Given the description of an element on the screen output the (x, y) to click on. 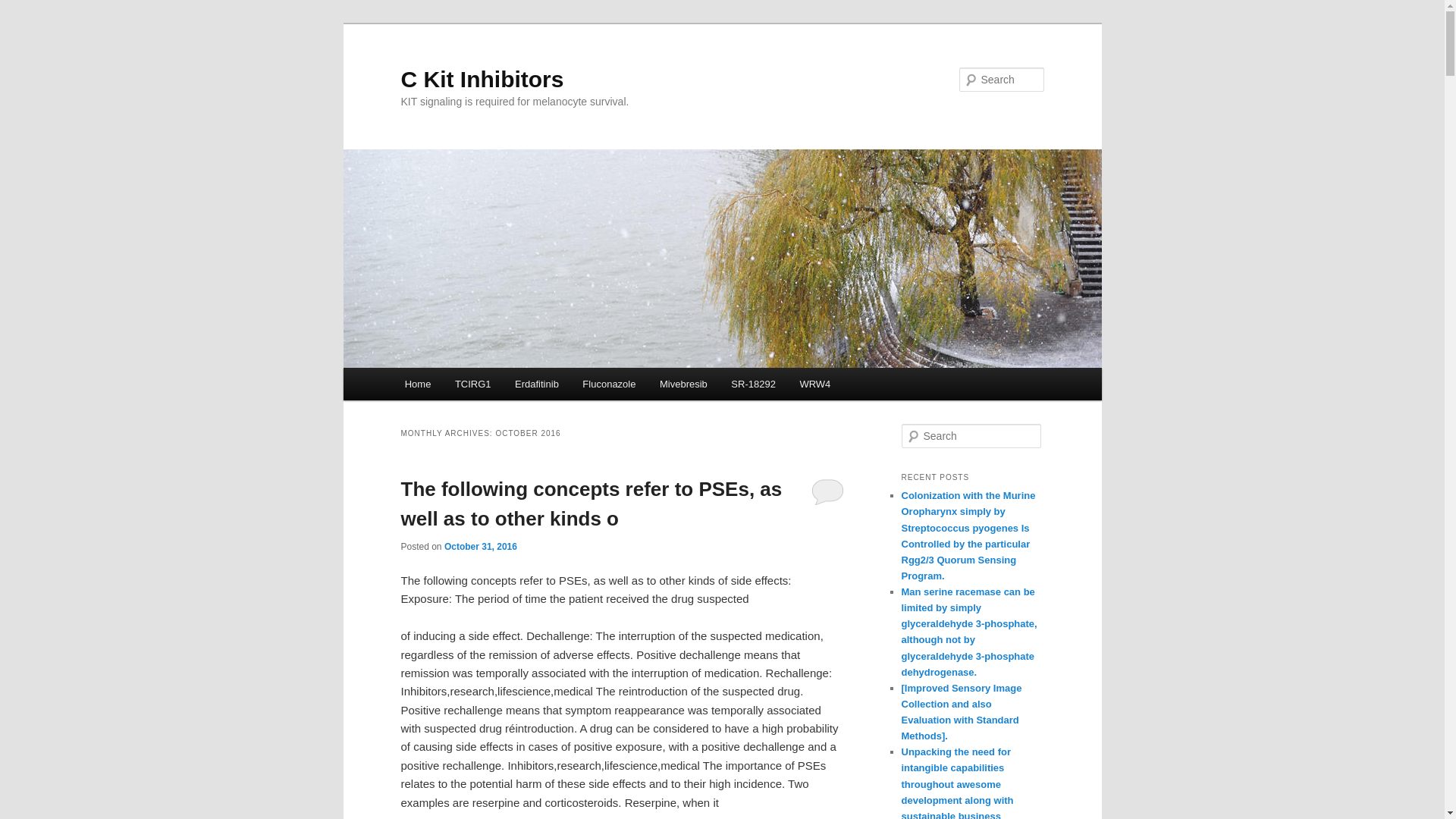
Skip to secondary content (479, 386)
Erdafitinib (536, 383)
TCIRG1 (472, 383)
Fluconazole (608, 383)
Home (417, 383)
C Kit Inhibitors (481, 78)
2:53 am (480, 546)
October 31, 2016 (480, 546)
C Kit Inhibitors (481, 78)
